Given the description of an element on the screen output the (x, y) to click on. 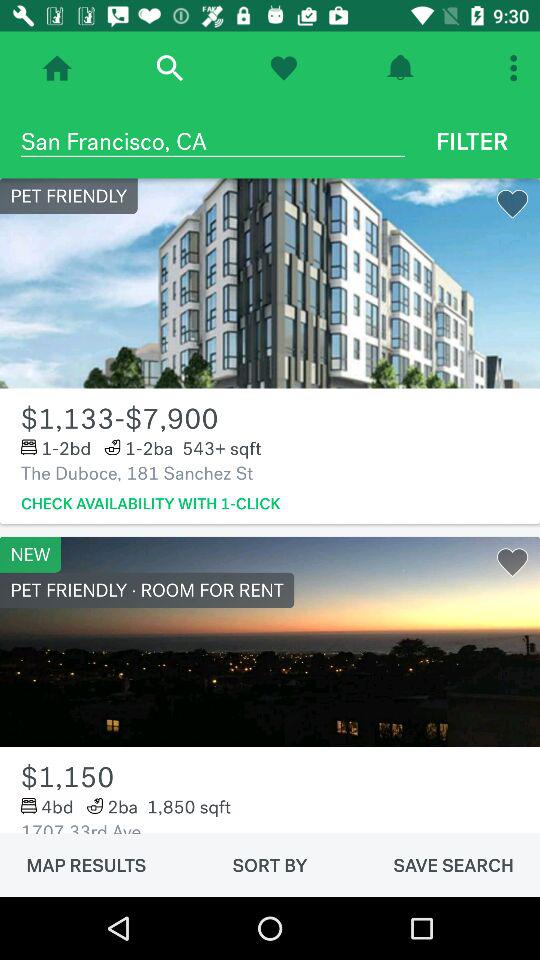
swipe to filter icon (472, 141)
